Given the description of an element on the screen output the (x, y) to click on. 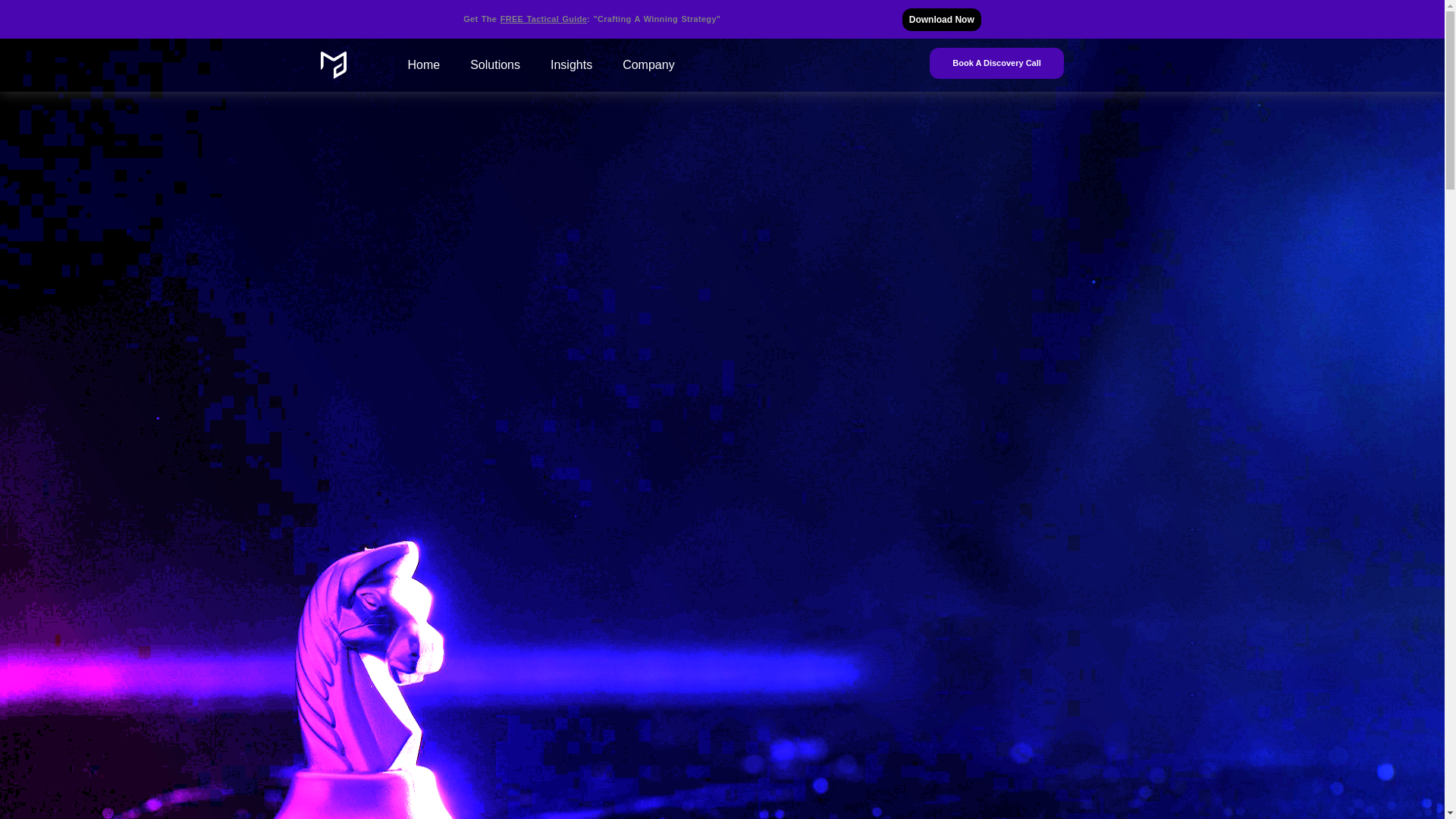
Solutions (494, 64)
Book A Discovery Call (997, 62)
Company (647, 64)
Get The FREE Tactical Guide: "Crafting A Winning Strategy" (591, 18)
Download Now (941, 19)
Home (424, 64)
Insights (571, 64)
